Given the description of an element on the screen output the (x, y) to click on. 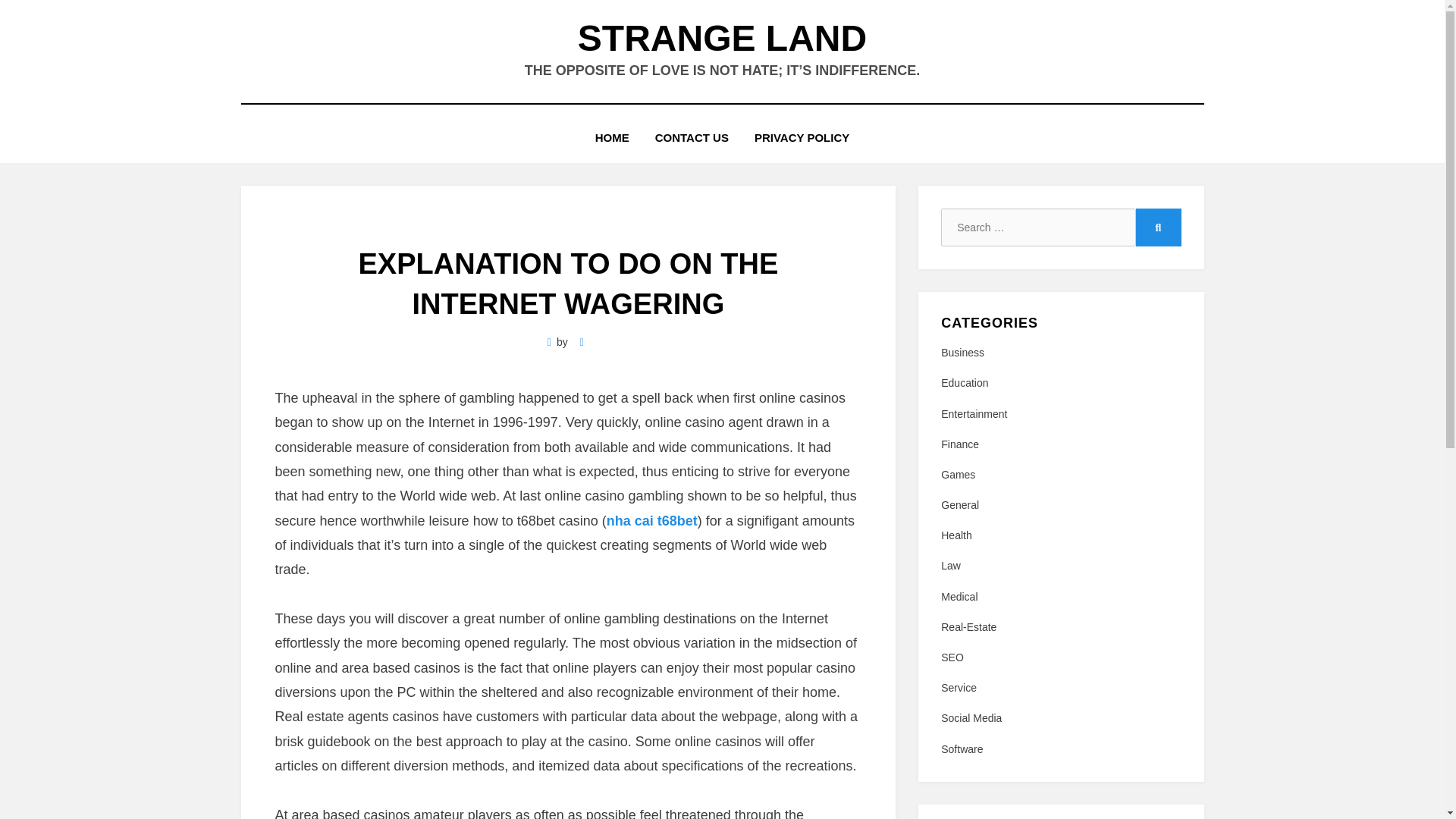
Law (1060, 565)
nha cai t68bet (652, 520)
Social Media (1060, 718)
SEO (1060, 657)
Search (1157, 227)
Finance (1060, 444)
Games (1060, 475)
Search for: (1037, 227)
Medical (1060, 597)
STRANGE LAND (722, 38)
Entertainment (1060, 414)
Business (1060, 352)
Service (1060, 687)
HOME (612, 137)
Real-Estate (1060, 627)
